Given the description of an element on the screen output the (x, y) to click on. 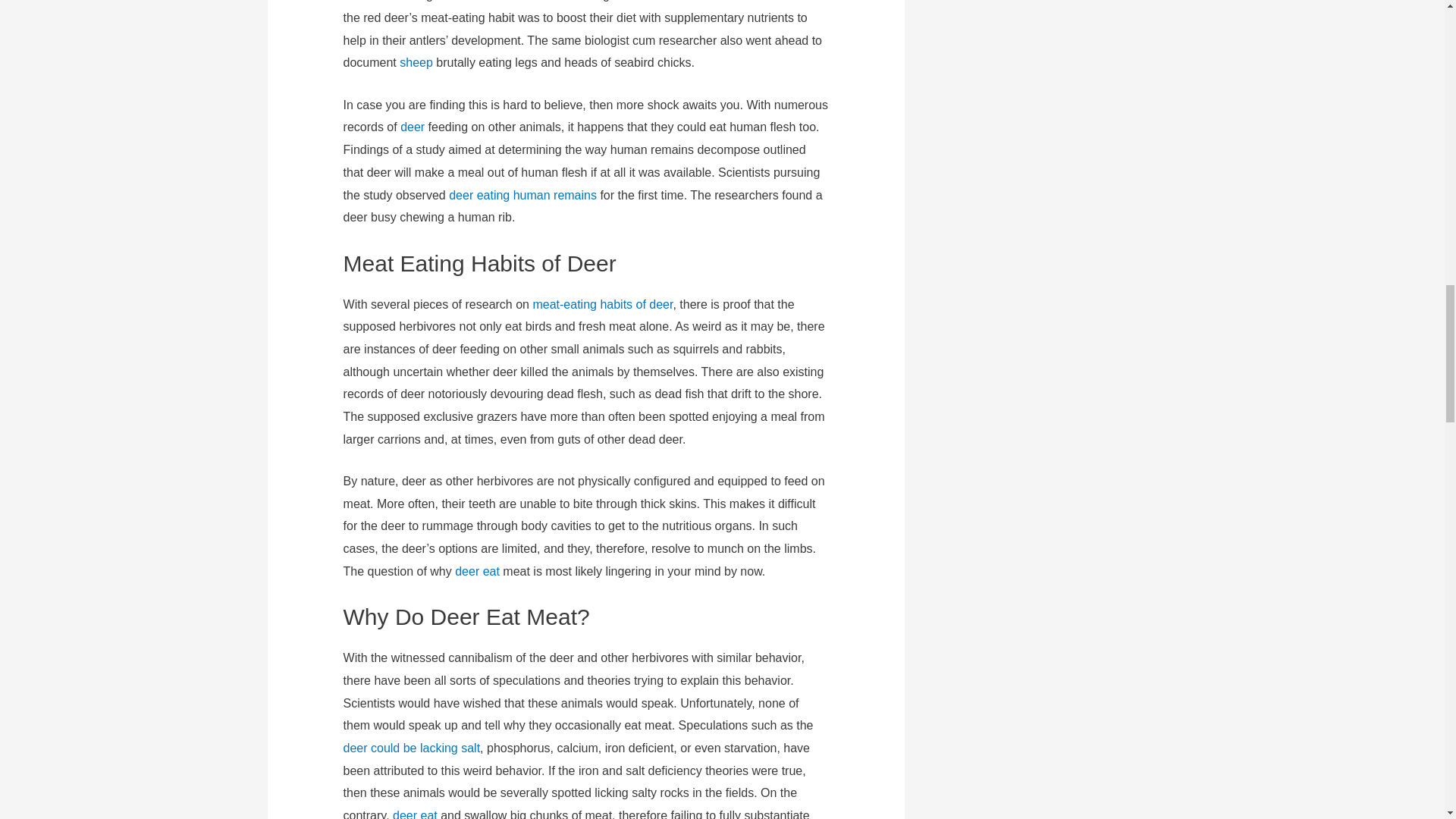
sheep (415, 62)
deer could be lacking salt (411, 748)
deer eat (476, 571)
deer eating human remains (522, 195)
deer (412, 126)
meat-eating habits of deer (602, 304)
sheep (415, 62)
deer eat (415, 814)
